Given the description of an element on the screen output the (x, y) to click on. 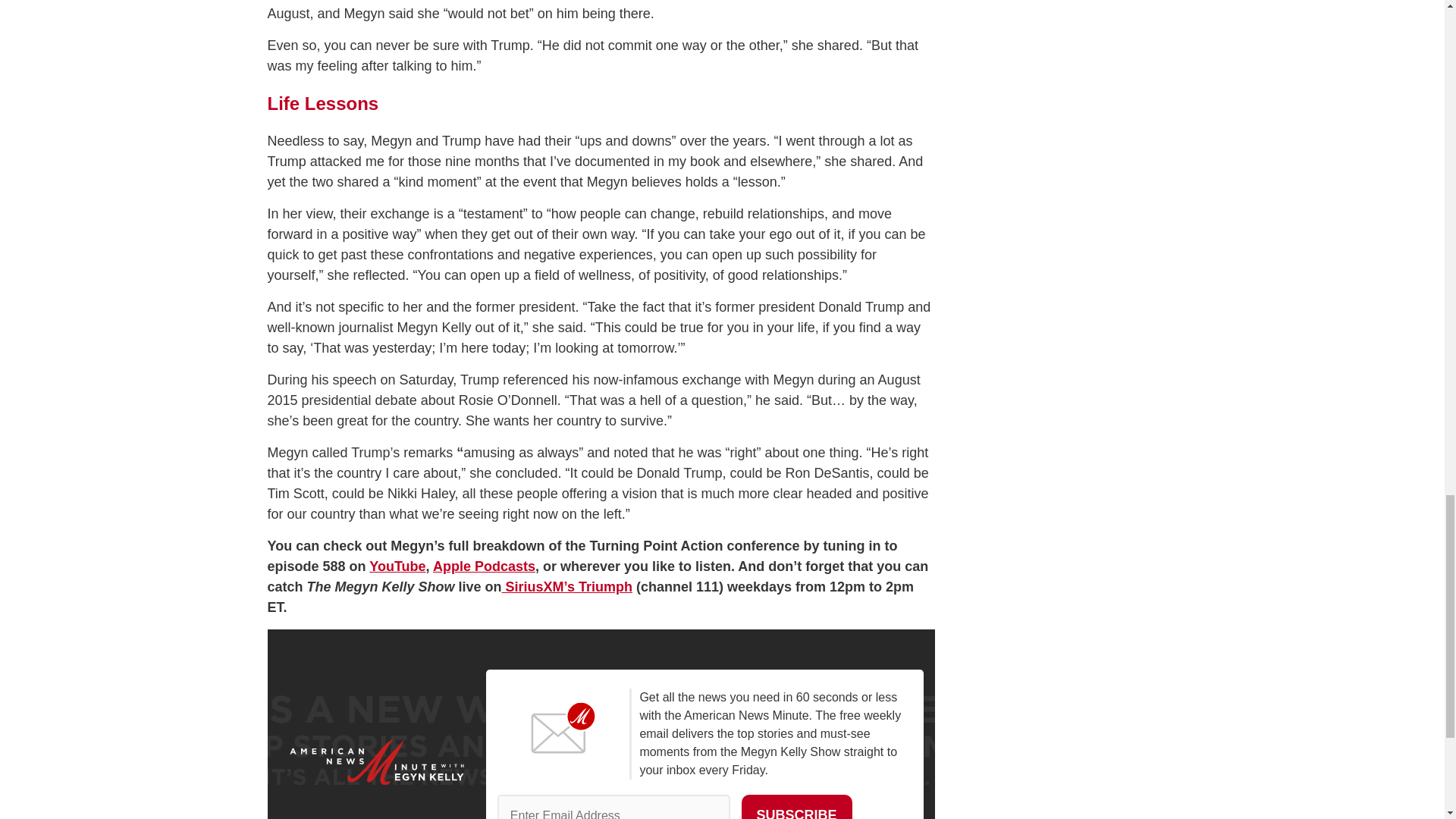
YouTube (397, 566)
Subscribe (796, 806)
Subscribe (796, 806)
Apple Podcasts (483, 566)
